Given the description of an element on the screen output the (x, y) to click on. 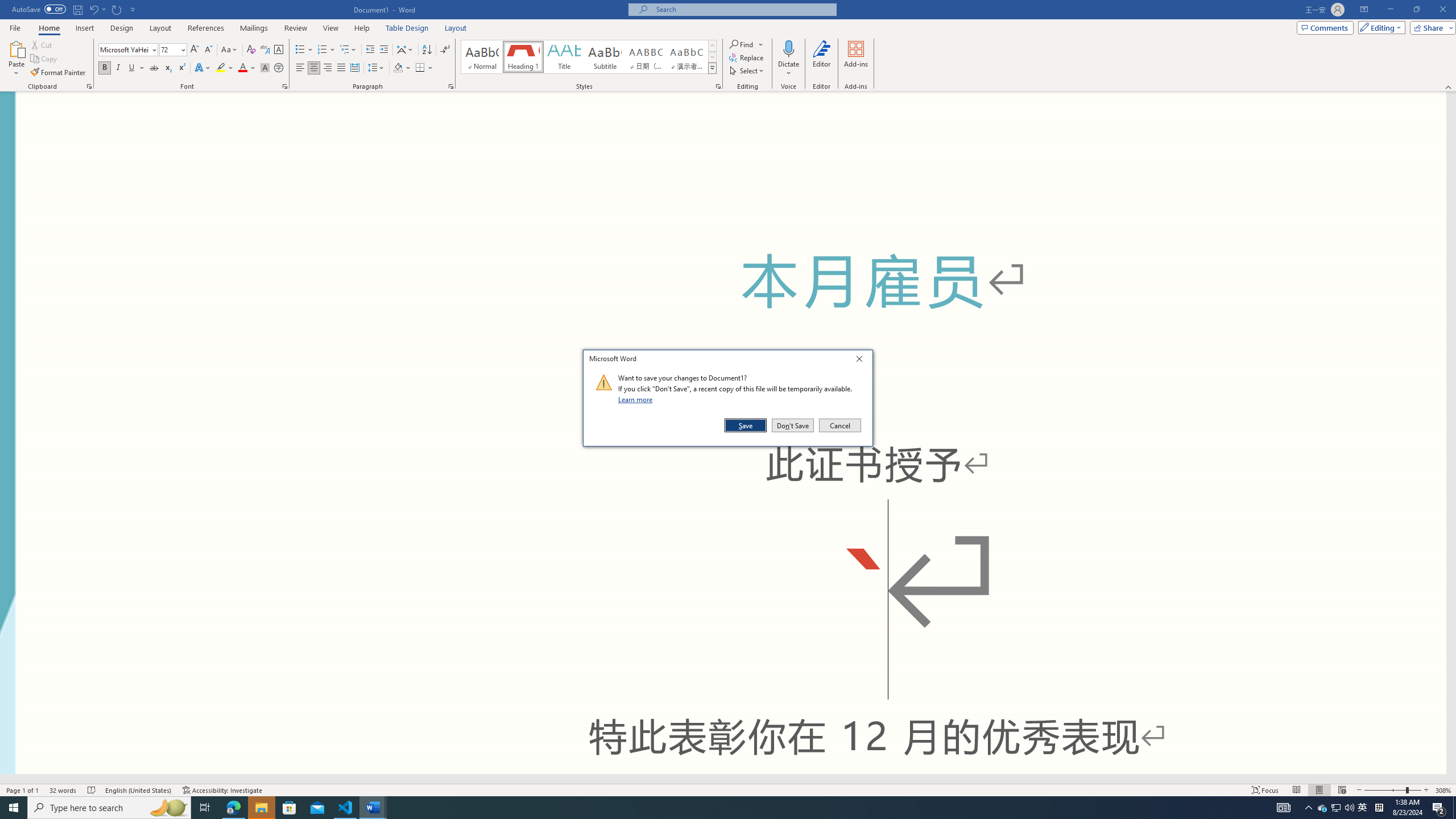
Increase Indent (383, 49)
Shading RGB(0, 0, 0) (397, 67)
Repeat Grow Font (117, 9)
Office Clipboard... (88, 85)
AutomationID: QuickStylesGallery (588, 56)
Select (747, 69)
Language English (United States) (138, 790)
Learn more (636, 399)
Text Highlight Color Yellow (220, 67)
